Given the description of an element on the screen output the (x, y) to click on. 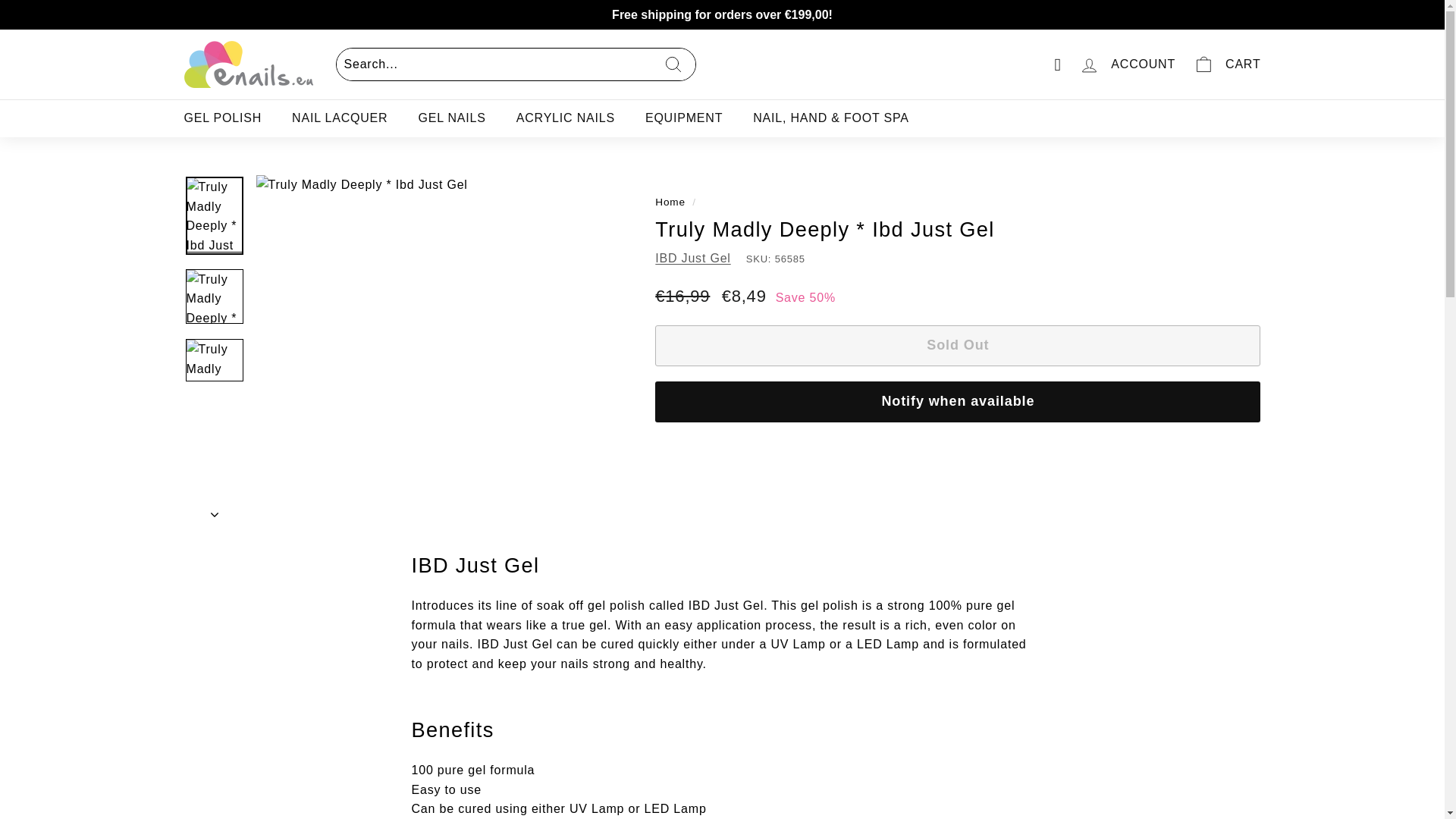
ACCOUNT (1127, 64)
Back to the frontpage (669, 202)
GEL POLISH (222, 118)
IBD Just Gel (692, 257)
